Given the description of an element on the screen output the (x, y) to click on. 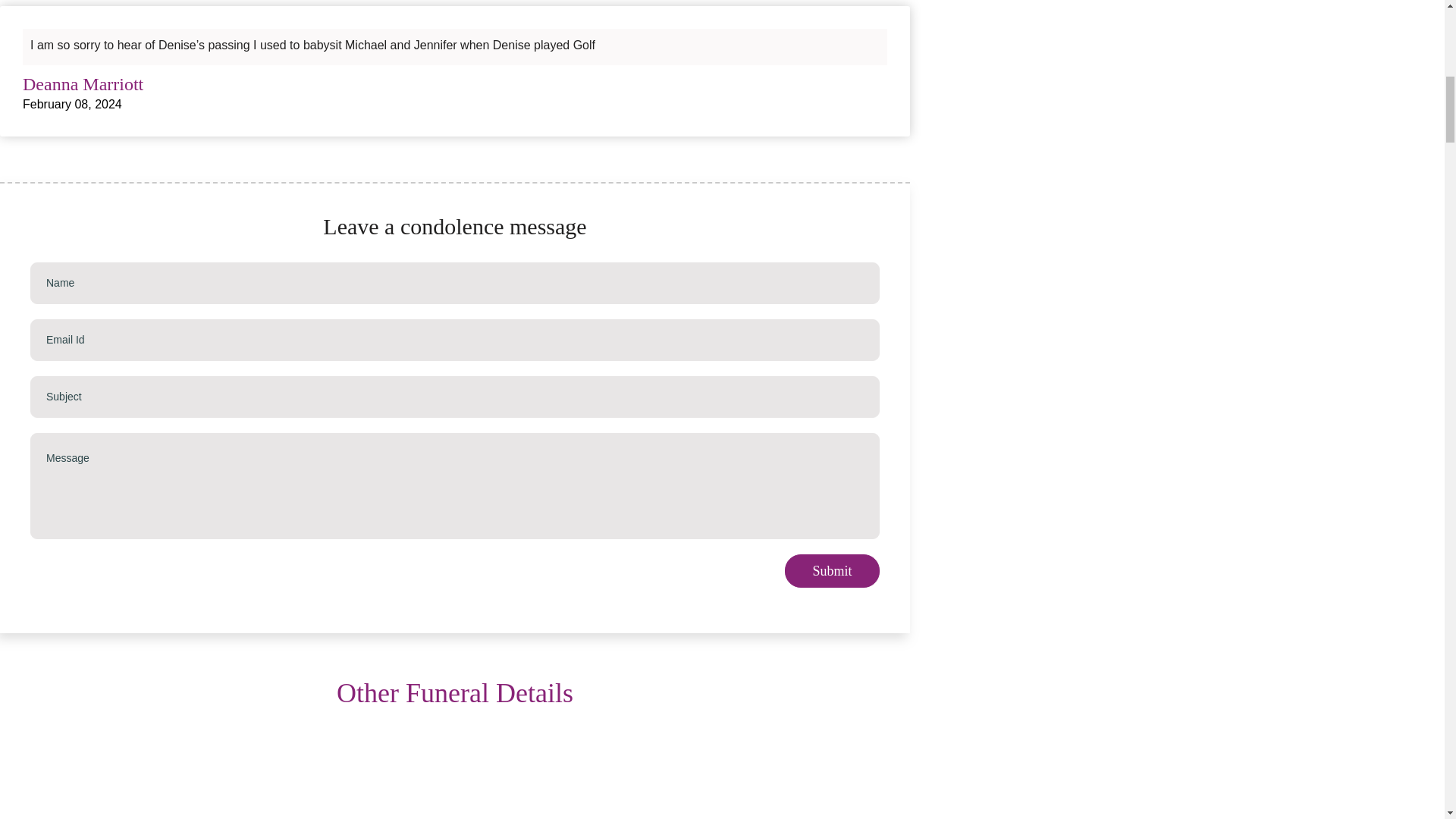
Submit (831, 571)
